Given the description of an element on the screen output the (x, y) to click on. 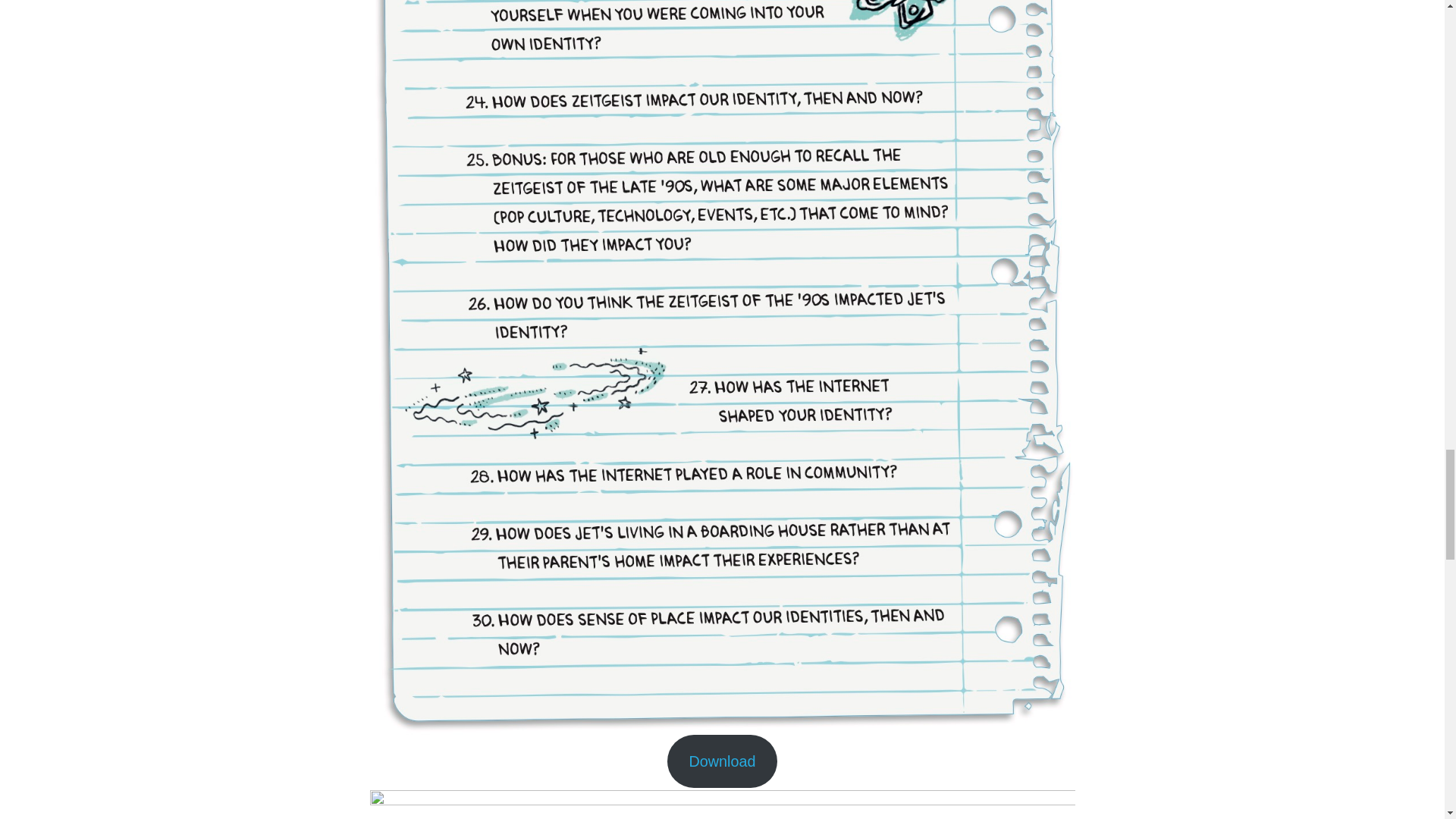
Download (721, 760)
